Given the description of an element on the screen output the (x, y) to click on. 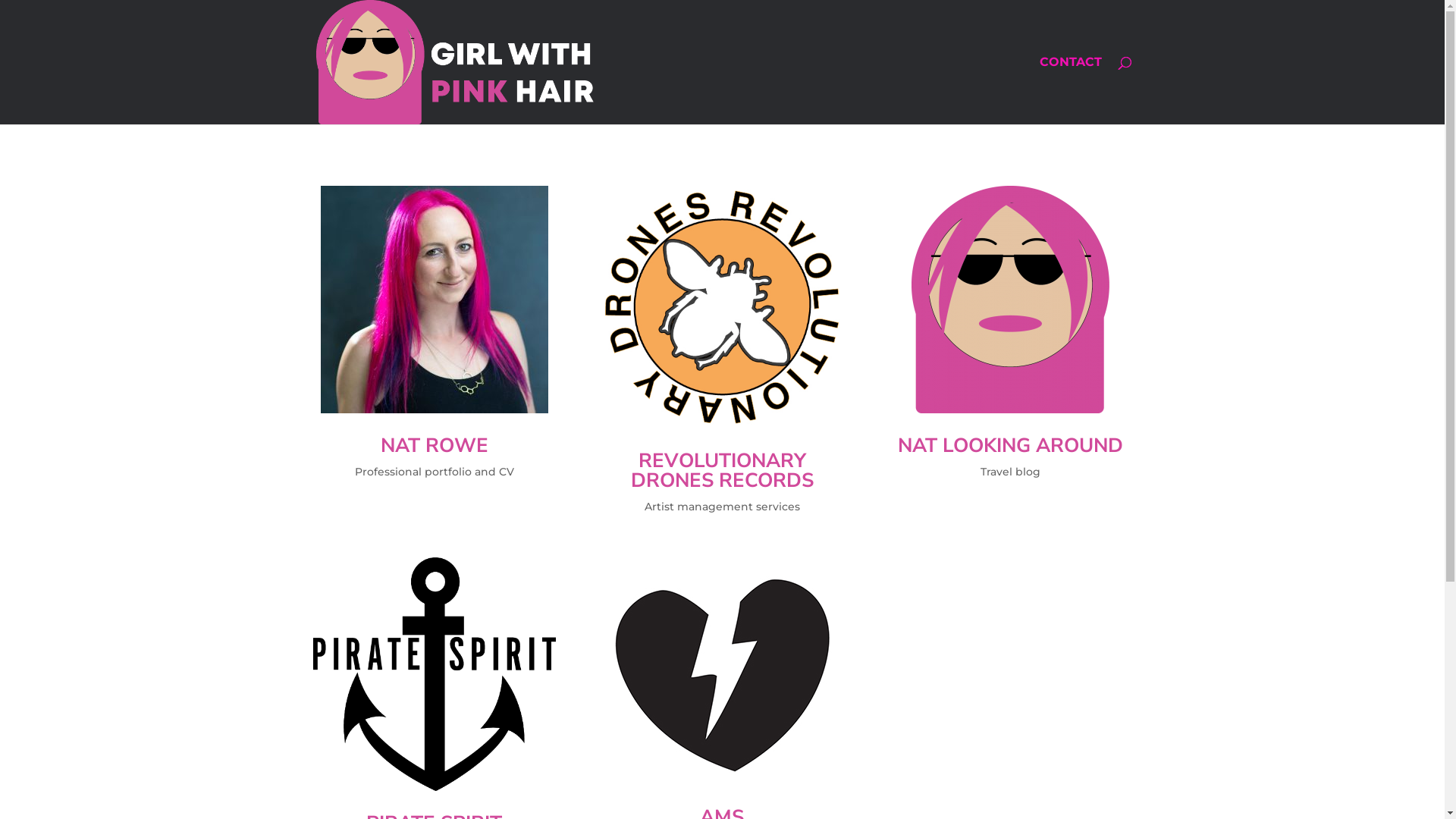
CONTACT Element type: text (1069, 90)
